Given the description of an element on the screen output the (x, y) to click on. 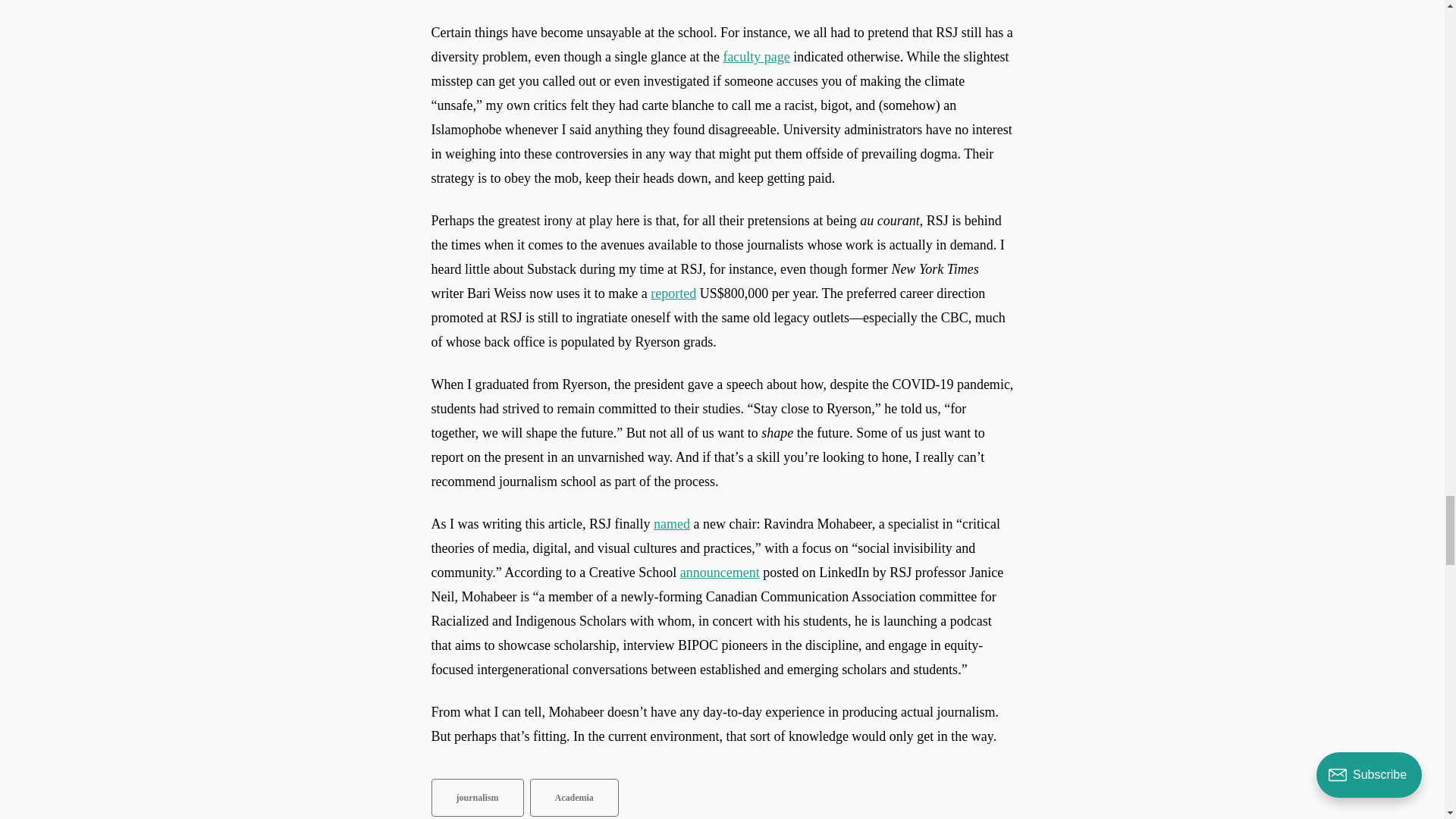
journalism (476, 797)
Academia (573, 797)
